Given the description of an element on the screen output the (x, y) to click on. 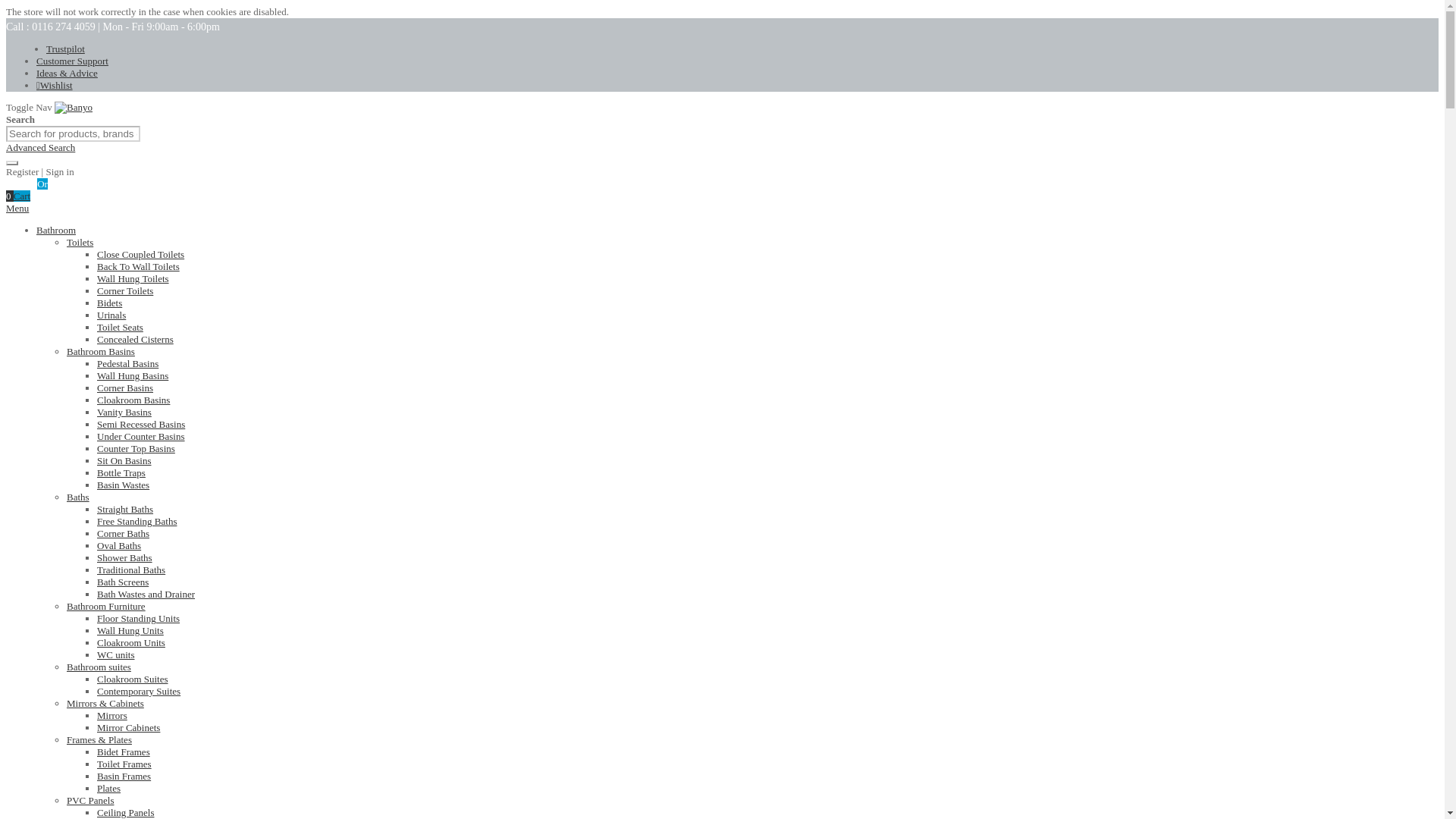
Toilets (79, 242)
Corner Baths (123, 532)
Sign In (21, 183)
Back To Wall Toilets (138, 266)
Under Counter Basins (140, 436)
Toilet Seats (119, 326)
Oval Baths (119, 545)
Semi Recessed Basins (140, 423)
Sign In (21, 183)
Register (65, 183)
Traditional Baths (131, 569)
Baths (77, 496)
Urinals (111, 315)
Sit On Basins (124, 460)
Cloakroom Basins (133, 399)
